Given the description of an element on the screen output the (x, y) to click on. 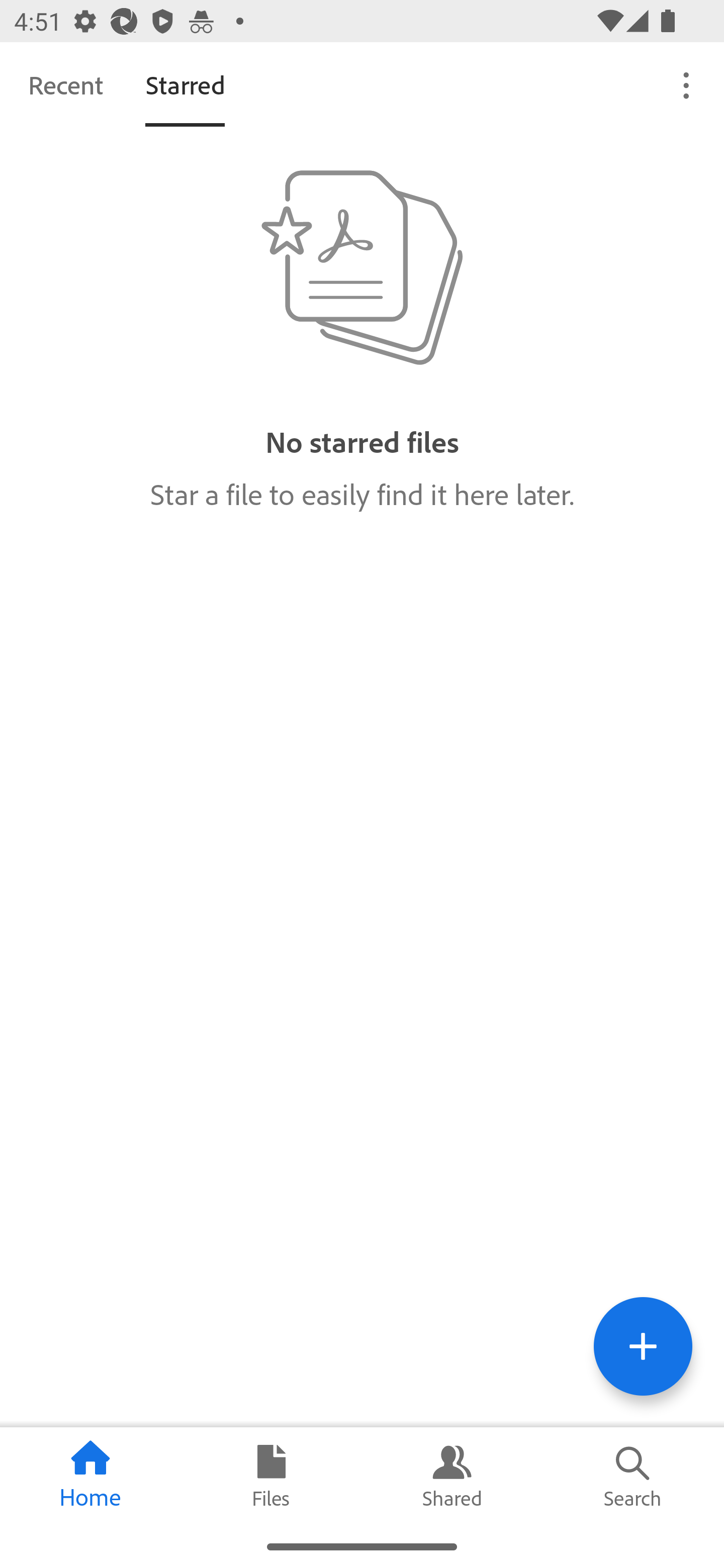
Recent (65, 84)
Starred (185, 84)
Overflow (687, 84)
Tools (642, 1345)
Home (90, 1475)
Files (271, 1475)
Shared (452, 1475)
Search (633, 1475)
